Given the description of an element on the screen output the (x, y) to click on. 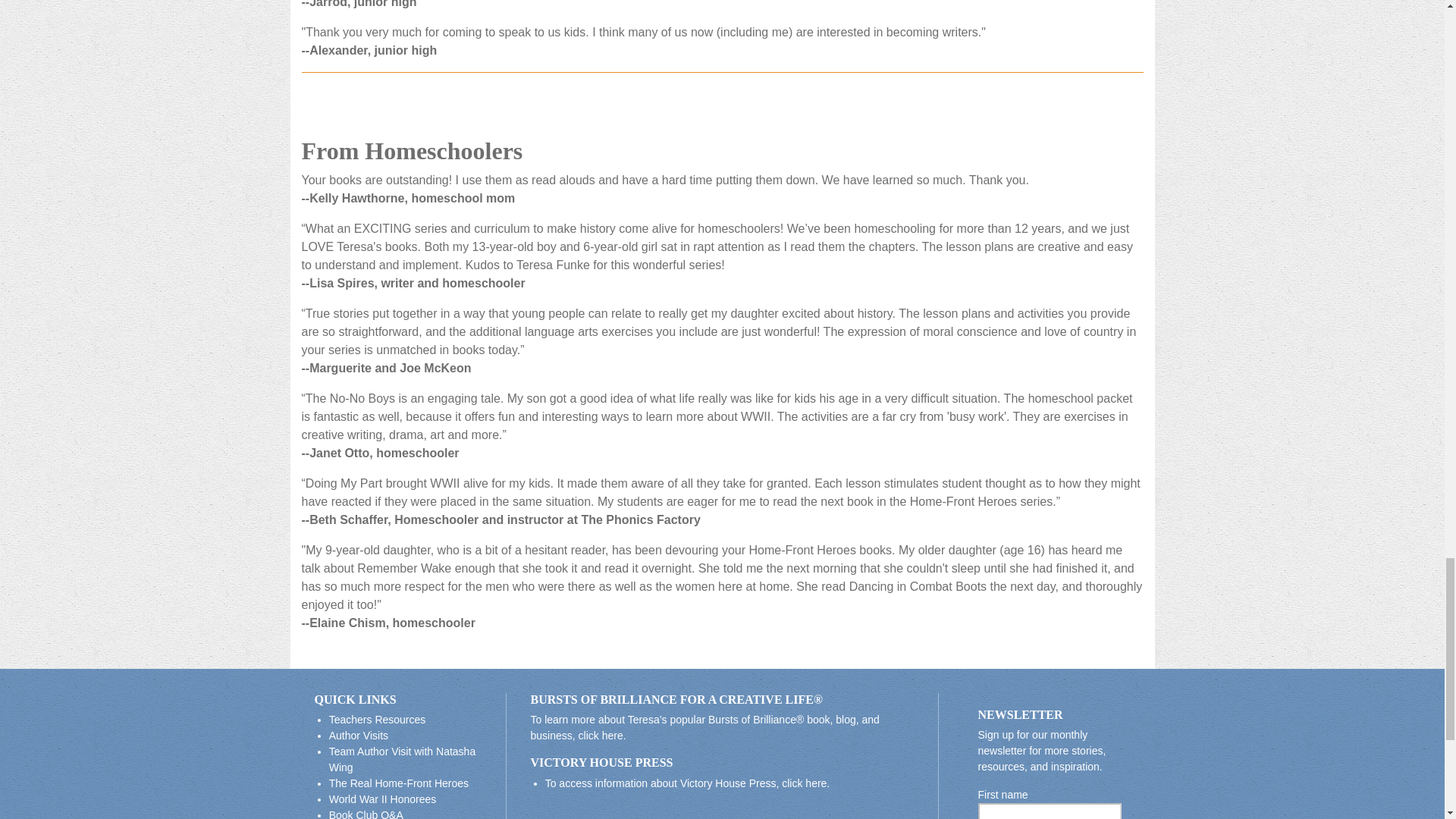
Teachers Resources (377, 719)
